Given the description of an element on the screen output the (x, y) to click on. 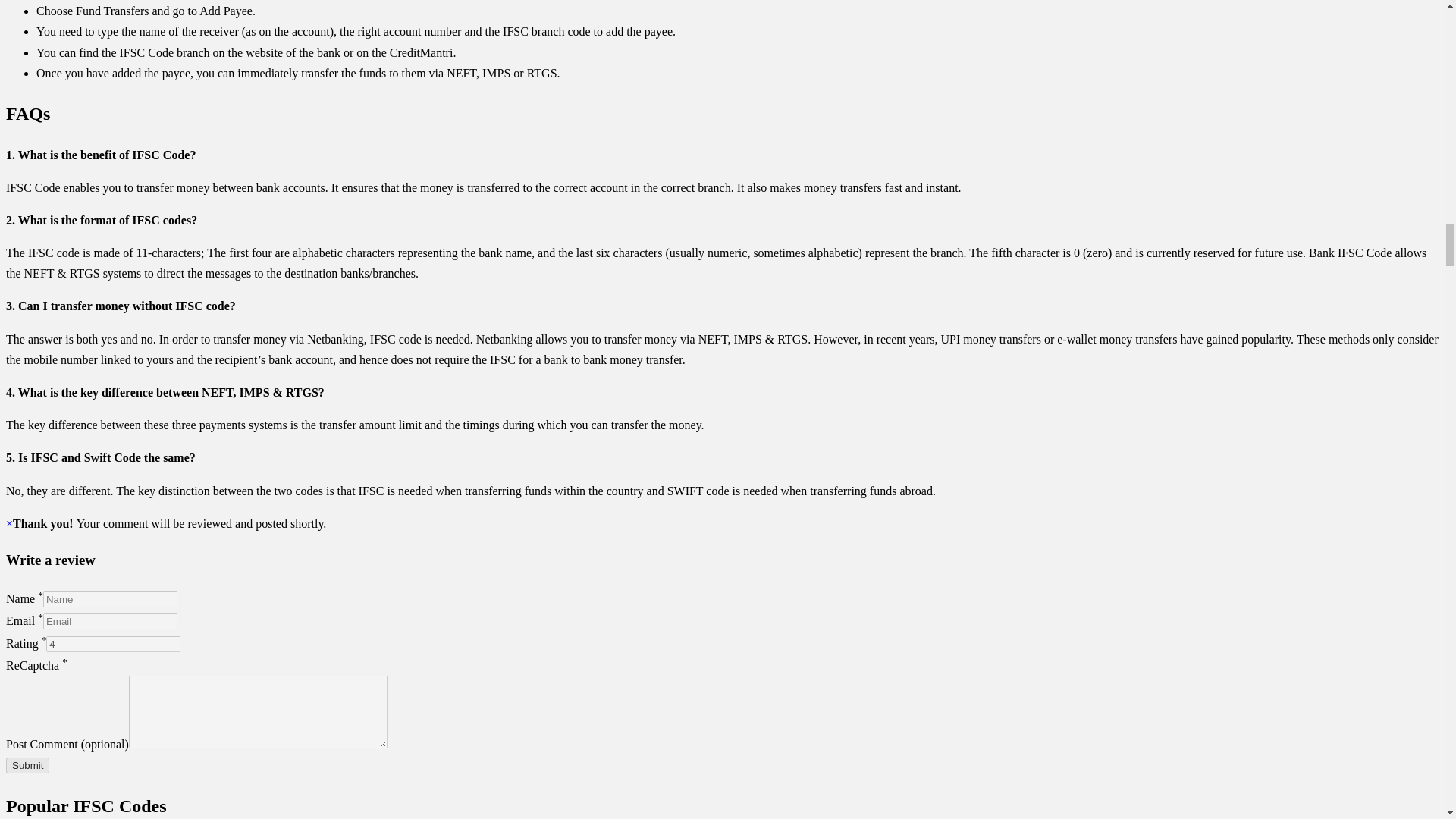
4 (113, 643)
